Given the description of an element on the screen output the (x, y) to click on. 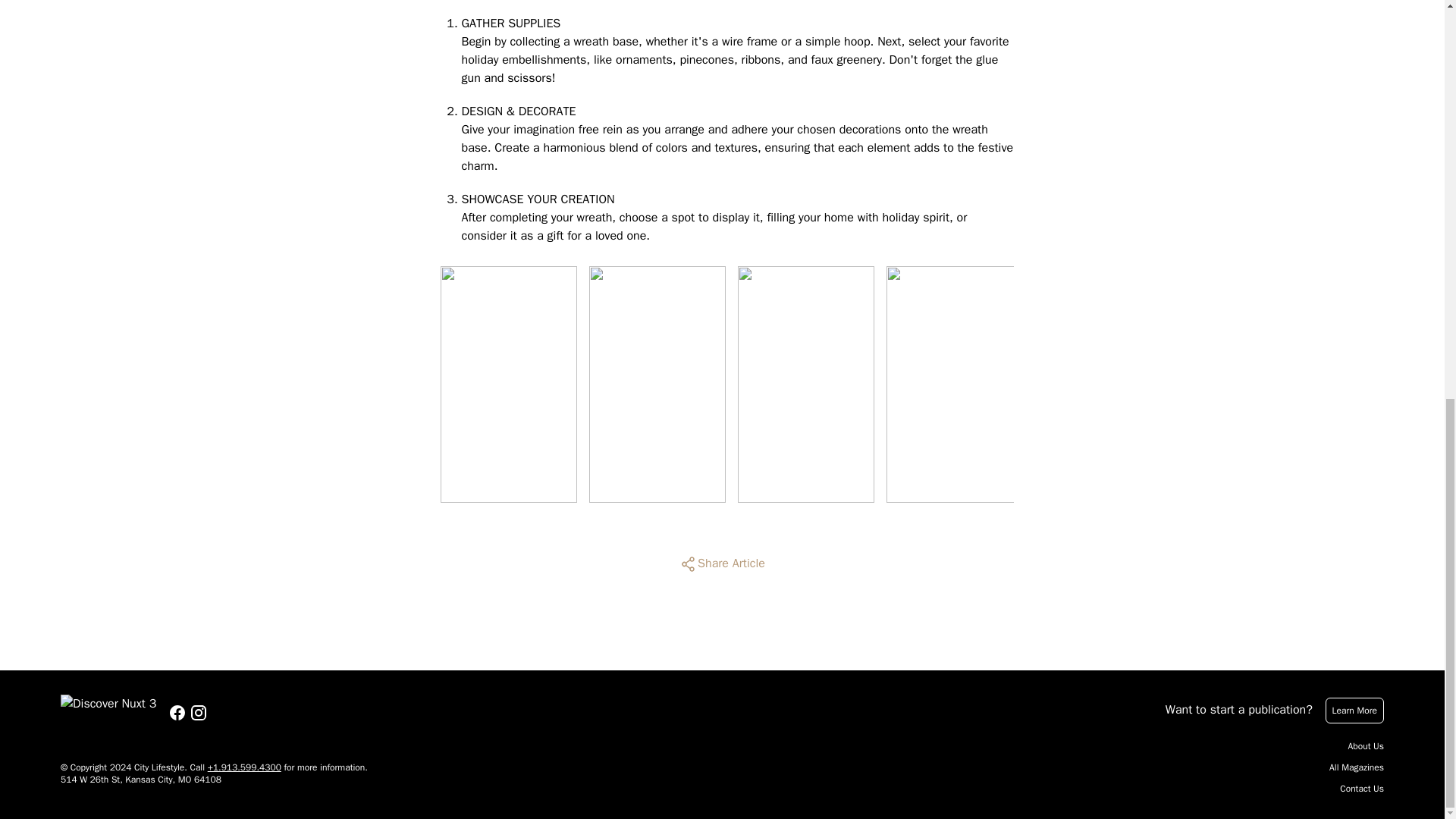
Learn More (1354, 710)
Share Article (722, 563)
Contact Us (1361, 788)
All Magazines (1356, 767)
About Us (1366, 746)
